Given the description of an element on the screen output the (x, y) to click on. 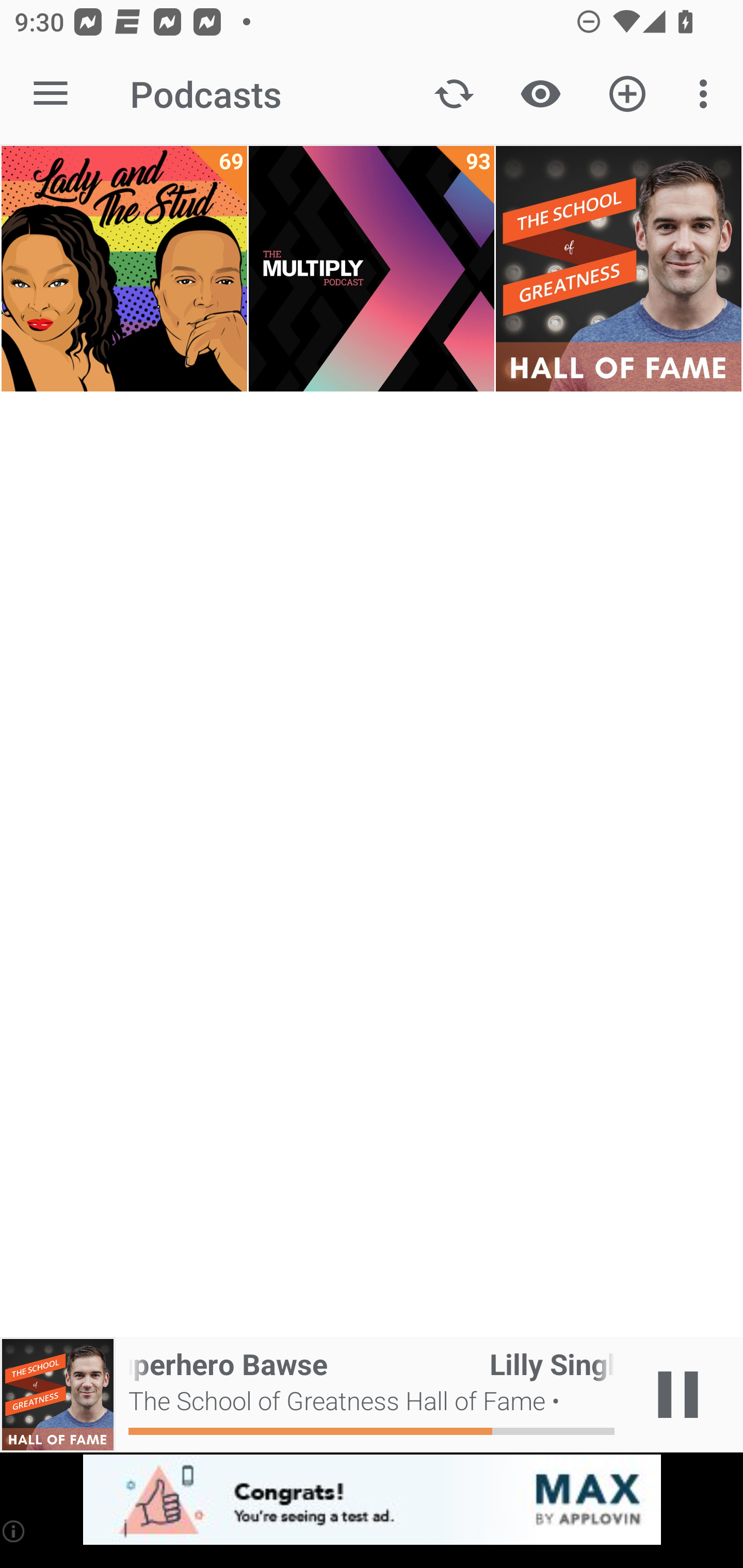
Open navigation sidebar (50, 93)
Update (453, 93)
Show / Hide played content (540, 93)
Add new Podcast (626, 93)
More options (706, 93)
Lady and The Stud 69 (124, 268)
The Multiply Podcast 93 (371, 268)
The School of Greatness Hall of Fame (618, 268)
Play / Pause (677, 1394)
app-monetization (371, 1500)
(i) (14, 1531)
